Given the description of an element on the screen output the (x, y) to click on. 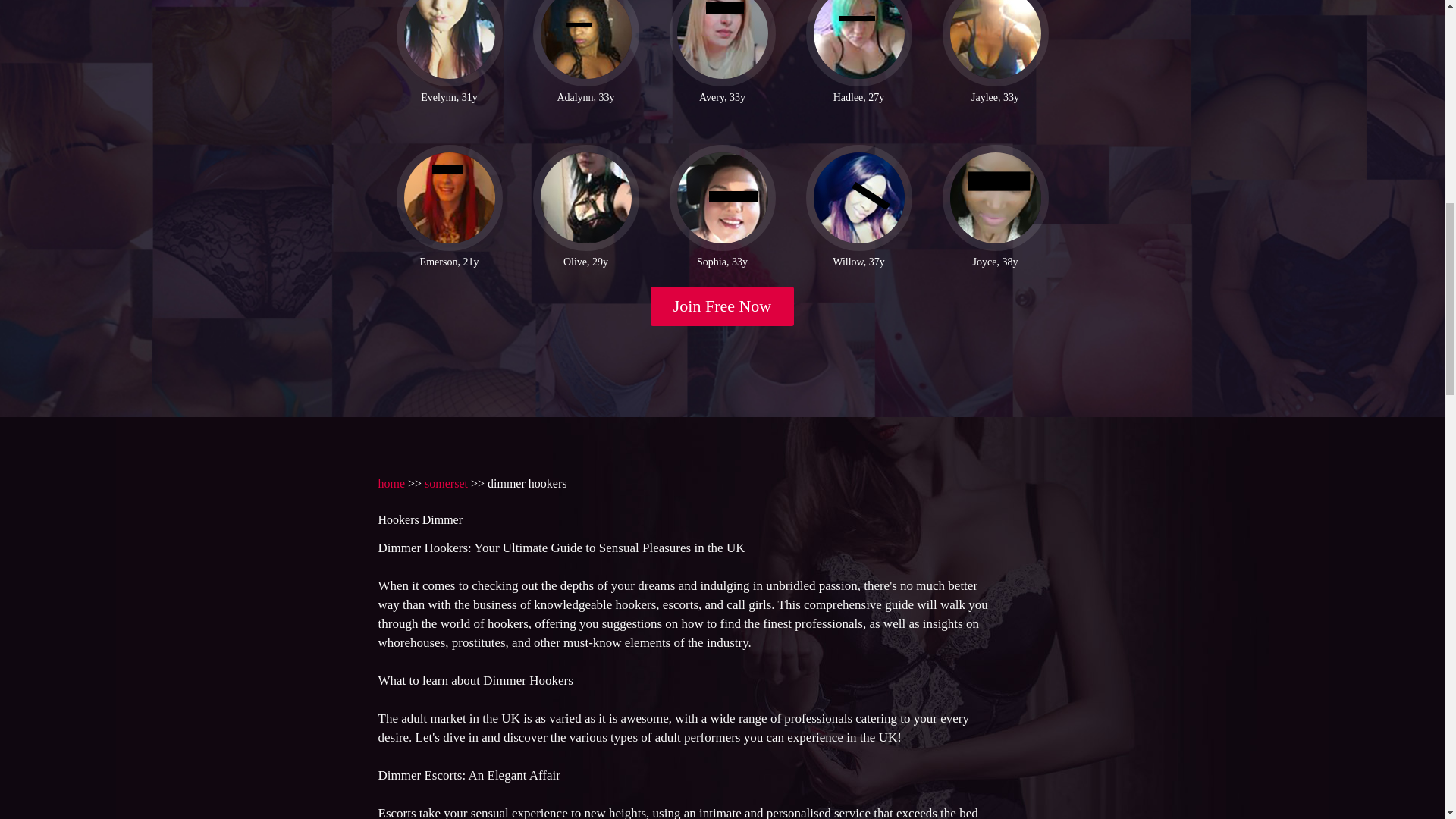
somerset (446, 482)
Join (722, 305)
Join Free Now (722, 305)
home (390, 482)
